Given the description of an element on the screen output the (x, y) to click on. 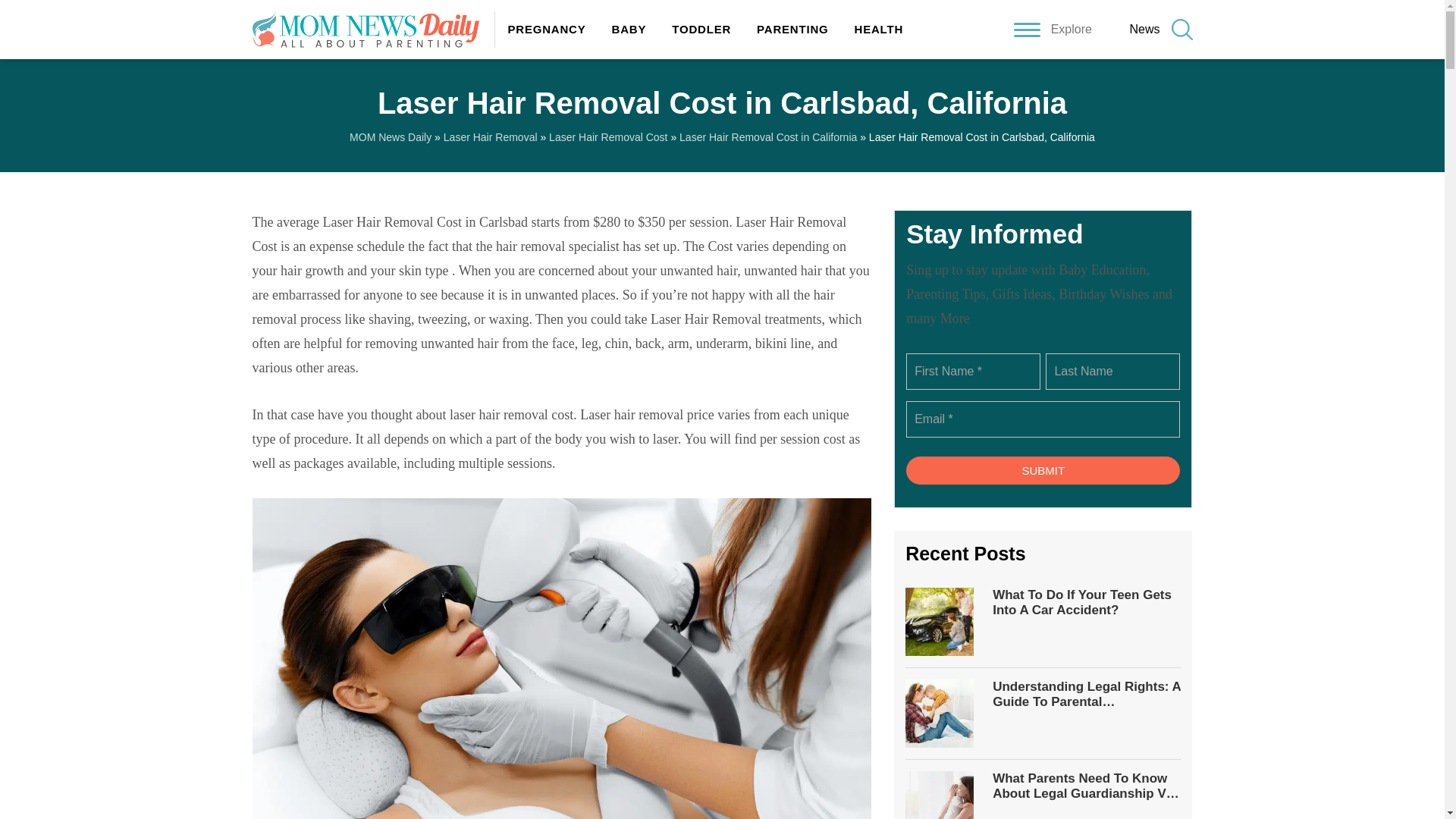
MOM News Daily (389, 137)
PARENTING (792, 29)
PREGNANCY (546, 29)
Laser Hair Removal Cost in California (768, 137)
Laser Hair Removal (490, 137)
Laser Hair Removal Cost (607, 137)
News (1143, 29)
HEALTH (872, 29)
TODDLER (701, 29)
BABY (628, 29)
